Given the description of an element on the screen output the (x, y) to click on. 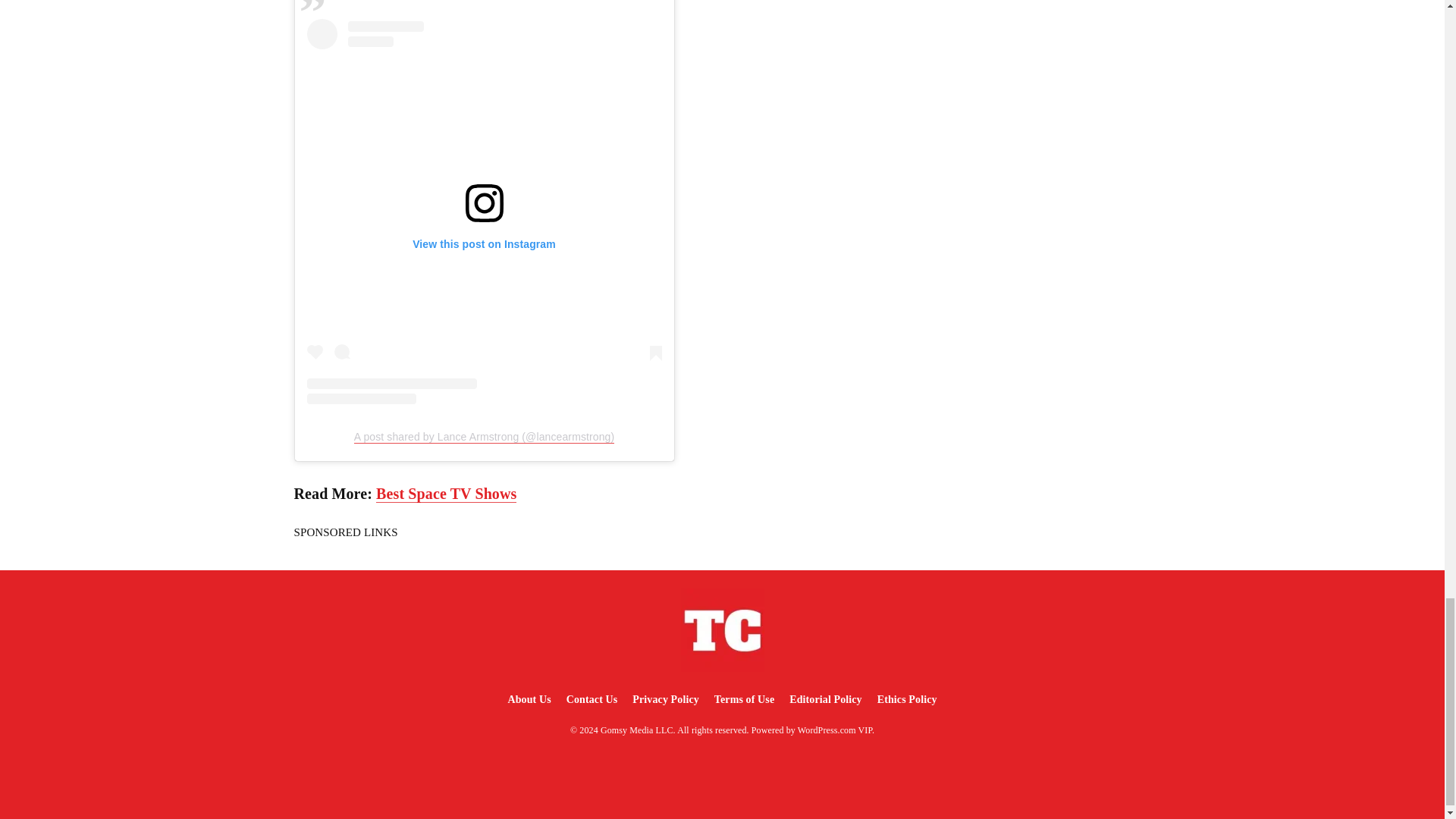
Best Space TV Shows (445, 493)
Privacy Policy (665, 699)
WordPress.com VIP (834, 729)
Ethics Policy (906, 699)
Editorial Policy (825, 699)
About Us (528, 699)
Terms of Use (743, 699)
Contact Us (592, 699)
